Given the description of an element on the screen output the (x, y) to click on. 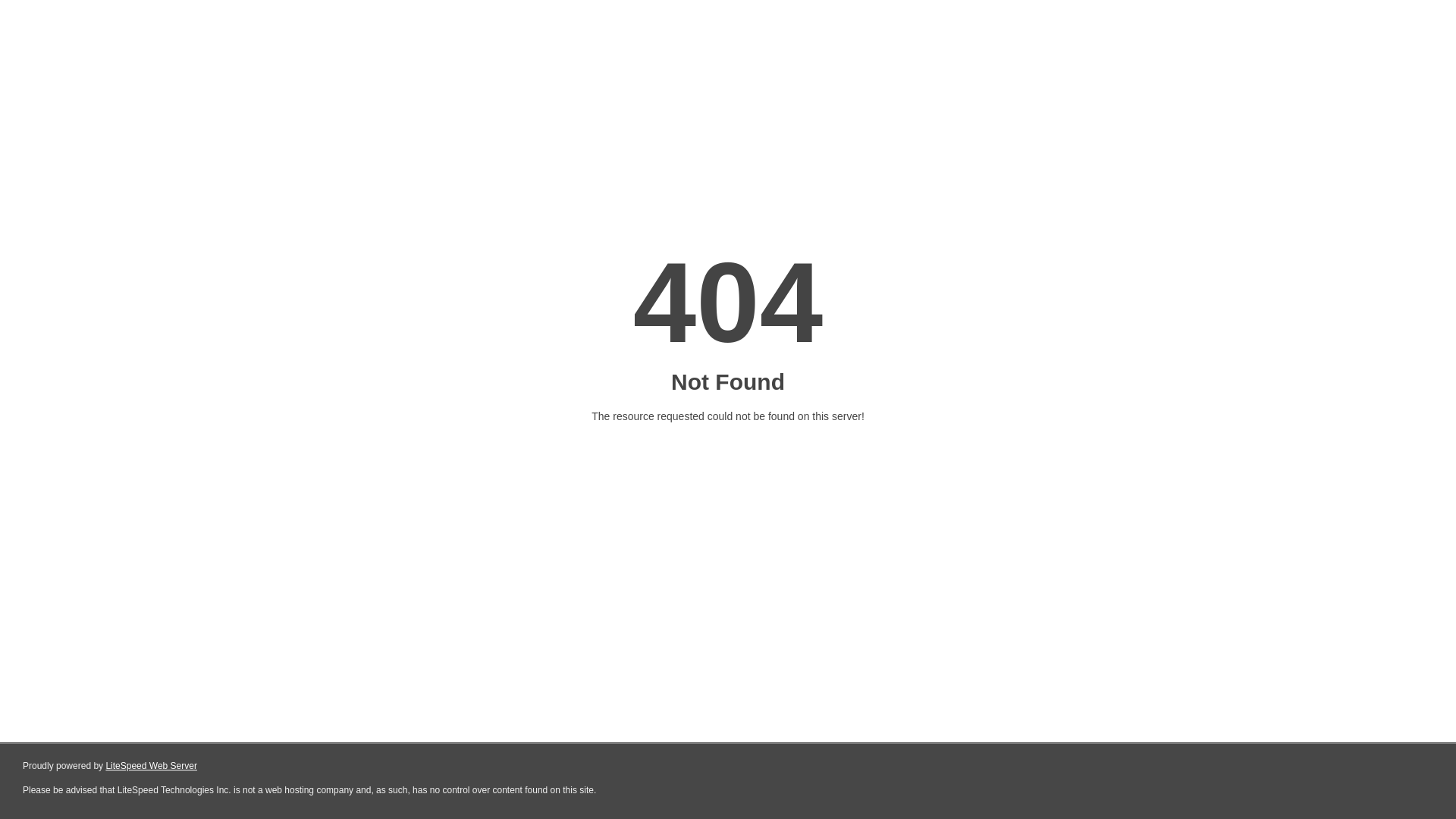
LiteSpeed Web Server Element type: text (151, 765)
